Given the description of an element on the screen output the (x, y) to click on. 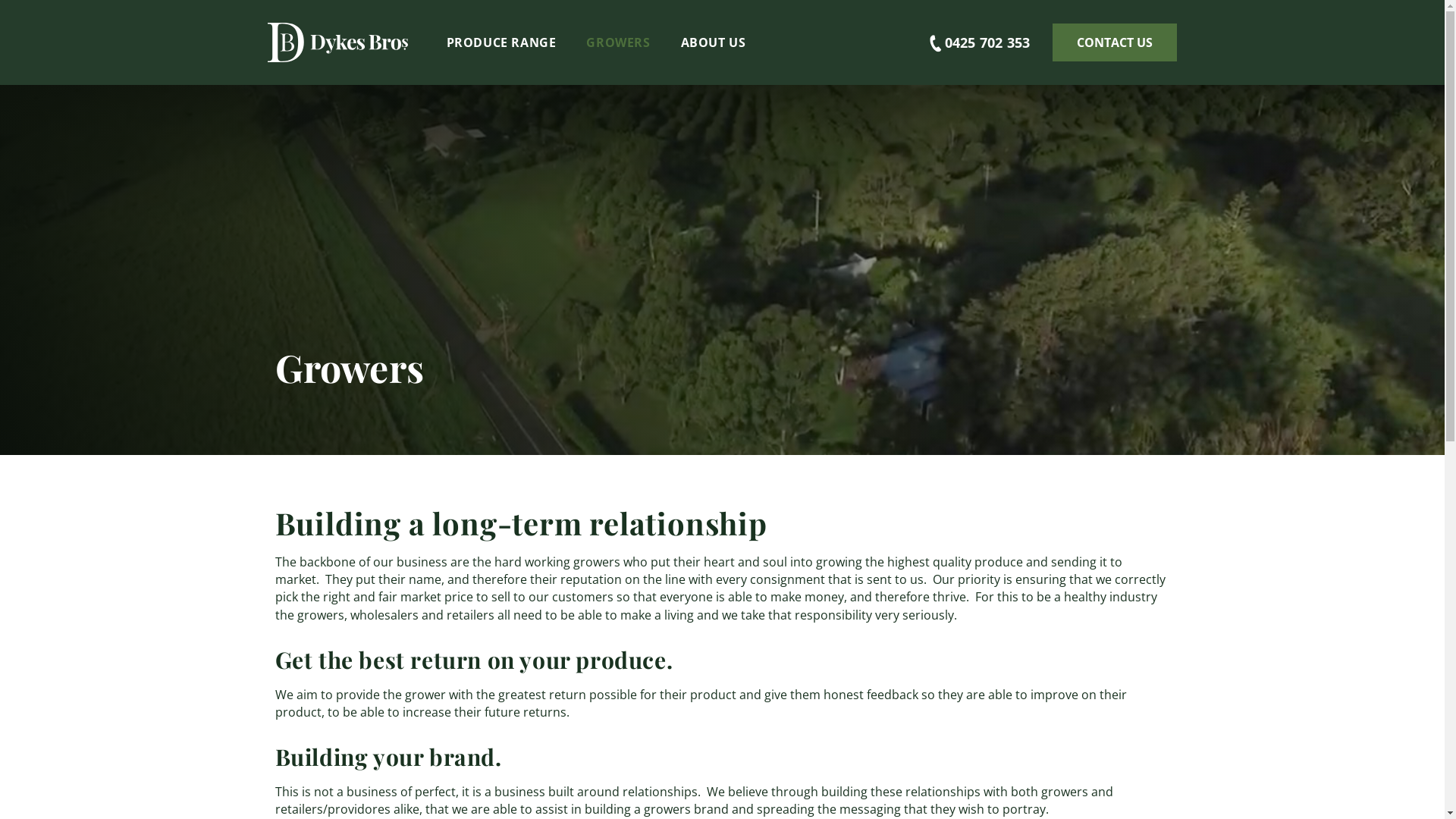
PRODUCE RANGE Element type: text (500, 42)
ABOUT US Element type: text (713, 42)
GROWERS Element type: text (618, 42)
CONTACT US Element type: text (1114, 42)
0425 702 353 Element type: text (957, 42)
